Given the description of an element on the screen output the (x, y) to click on. 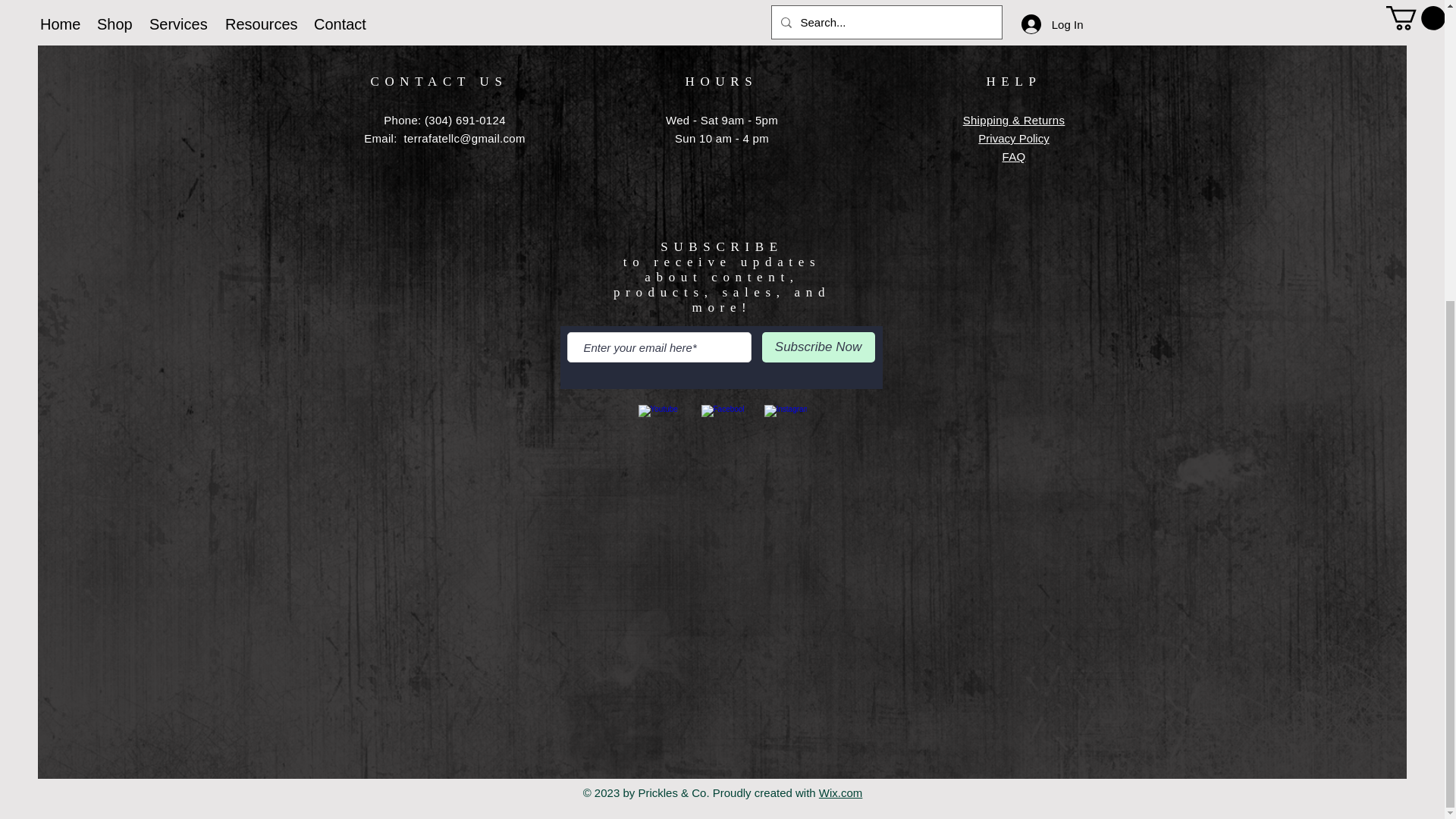
Privacy Policy (1013, 137)
Subscribe Now (818, 347)
FAQ (1014, 155)
Wix.com (840, 792)
Sun 10 am - 4 pm (721, 137)
Wed - Sat 9am - 5pm (721, 119)
